Given the description of an element on the screen output the (x, y) to click on. 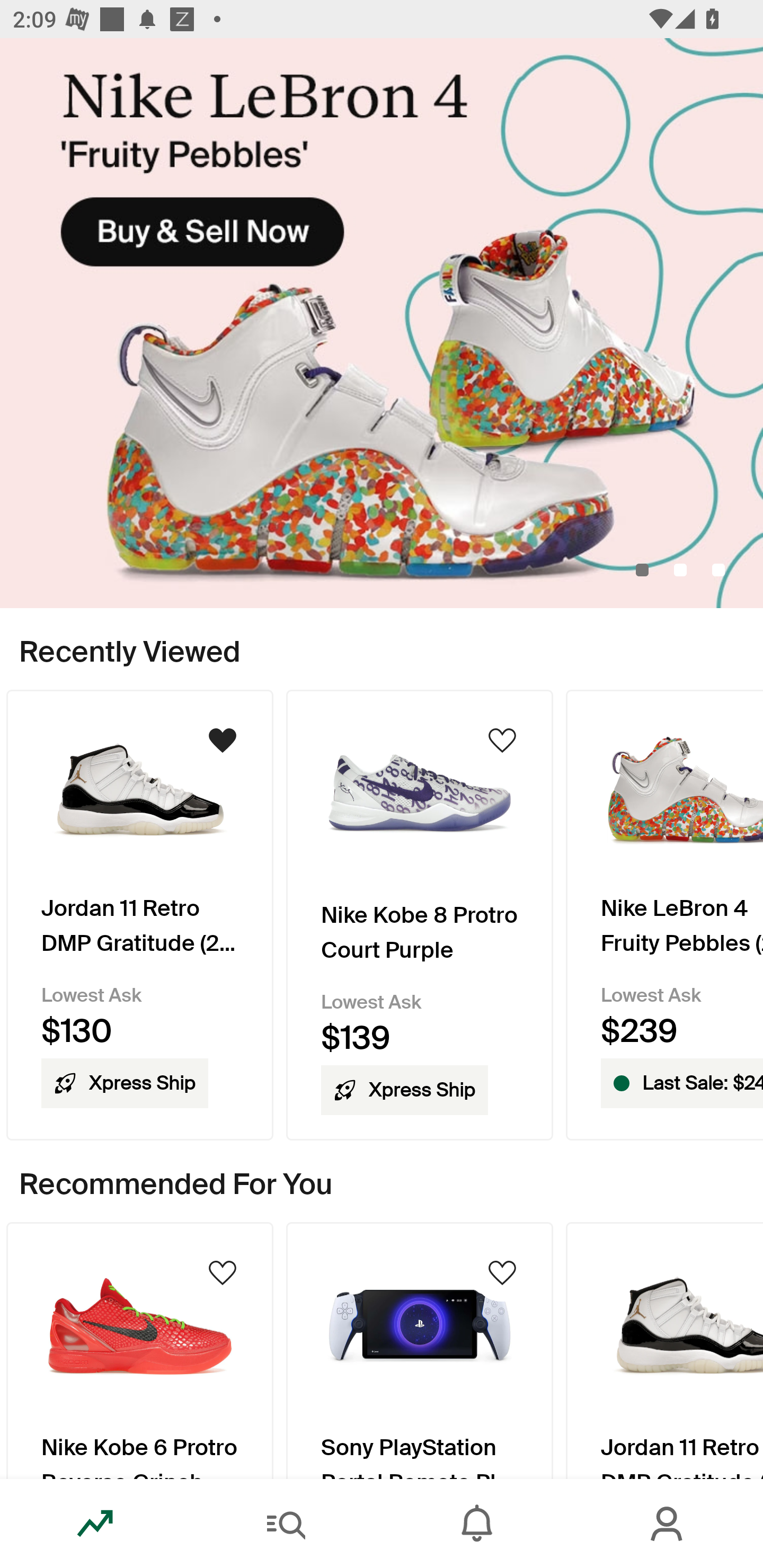
Product Image Nike Kobe 6 Protro Reverse Grinch (139, 1349)
Search (285, 1523)
Inbox (476, 1523)
Account (667, 1523)
